Given the description of an element on the screen output the (x, y) to click on. 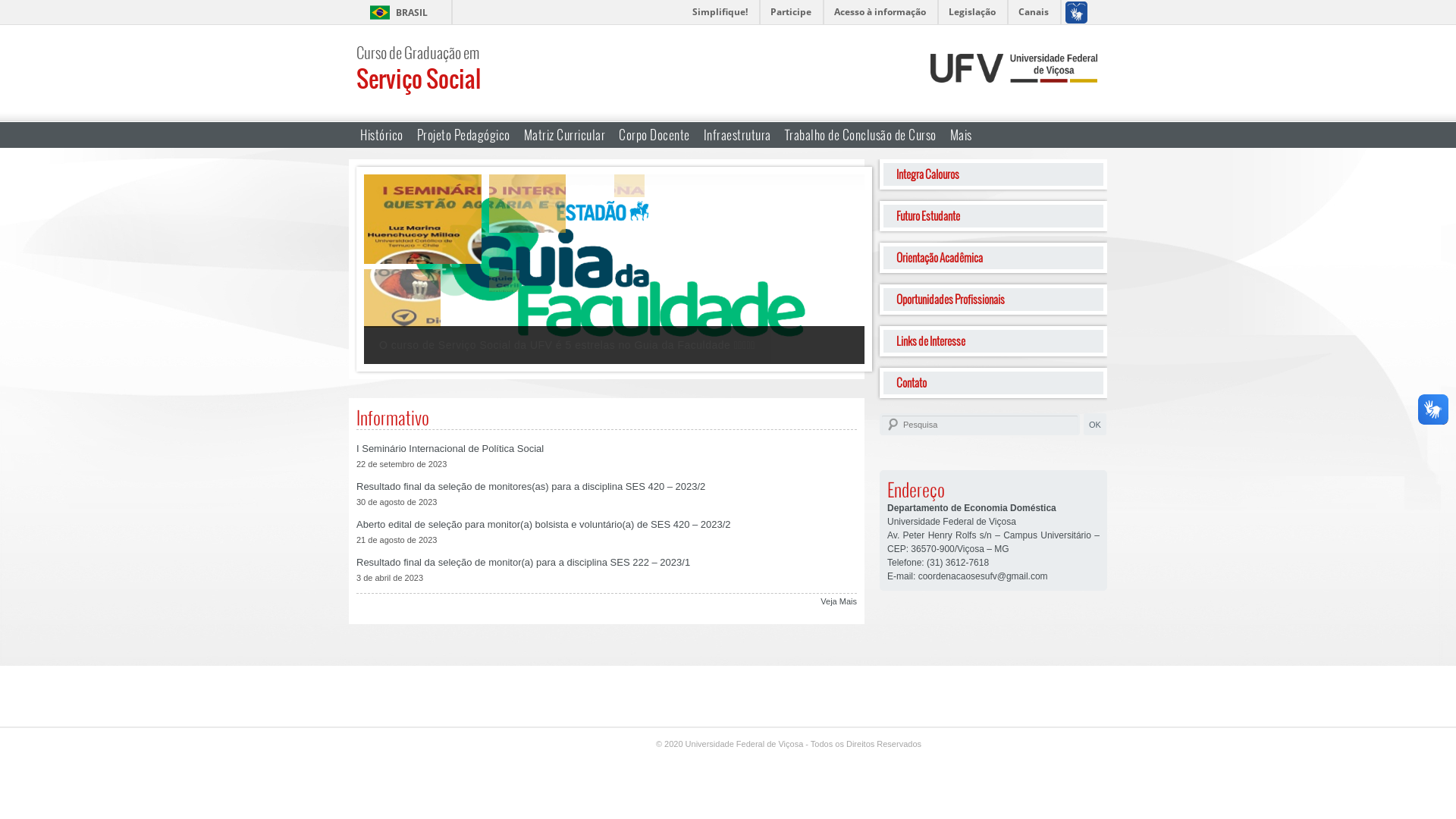
Futuro Estudante Element type: text (993, 215)
Oportunidades Profissionais Element type: text (993, 299)
Links de Interesse Element type: text (993, 341)
Veja Mais Element type: text (838, 600)
OK Element type: text (1094, 424)
Corpo Docente Element type: text (654, 134)
Integra Calouros Element type: text (993, 174)
Matriz Curricular Element type: text (564, 134)
Contato Element type: text (993, 382)
BRASIL Element type: text (396, 12)
Infraestrutura Element type: text (736, 134)
Mais Element type: text (960, 134)
